Given the description of an element on the screen output the (x, y) to click on. 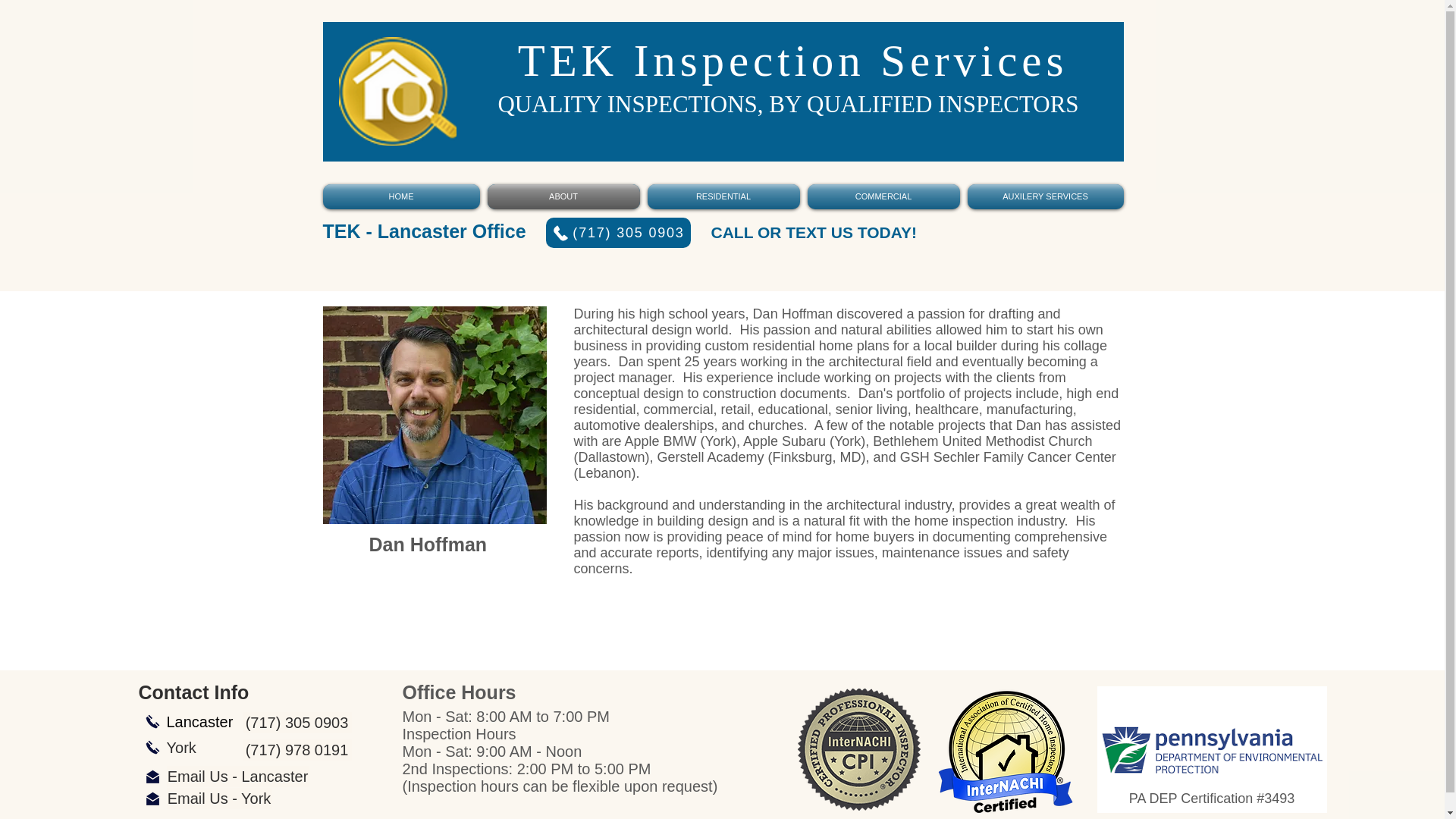
AUXILERY SERVICES (1042, 196)
TEK Inspection Services (793, 60)
ABOUT (563, 196)
HOME (403, 196)
RESIDENTIAL (723, 196)
COMMERCIAL (883, 196)
Email Us - Lancaster (237, 776)
Email Us - York (219, 798)
